Given the description of an element on the screen output the (x, y) to click on. 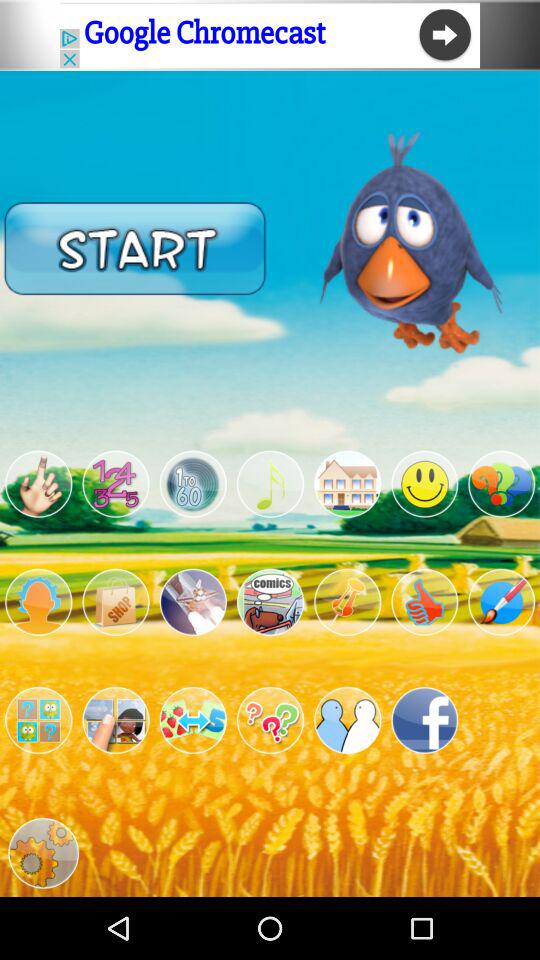
touch the bird symbol (38, 484)
